Given the description of an element on the screen output the (x, y) to click on. 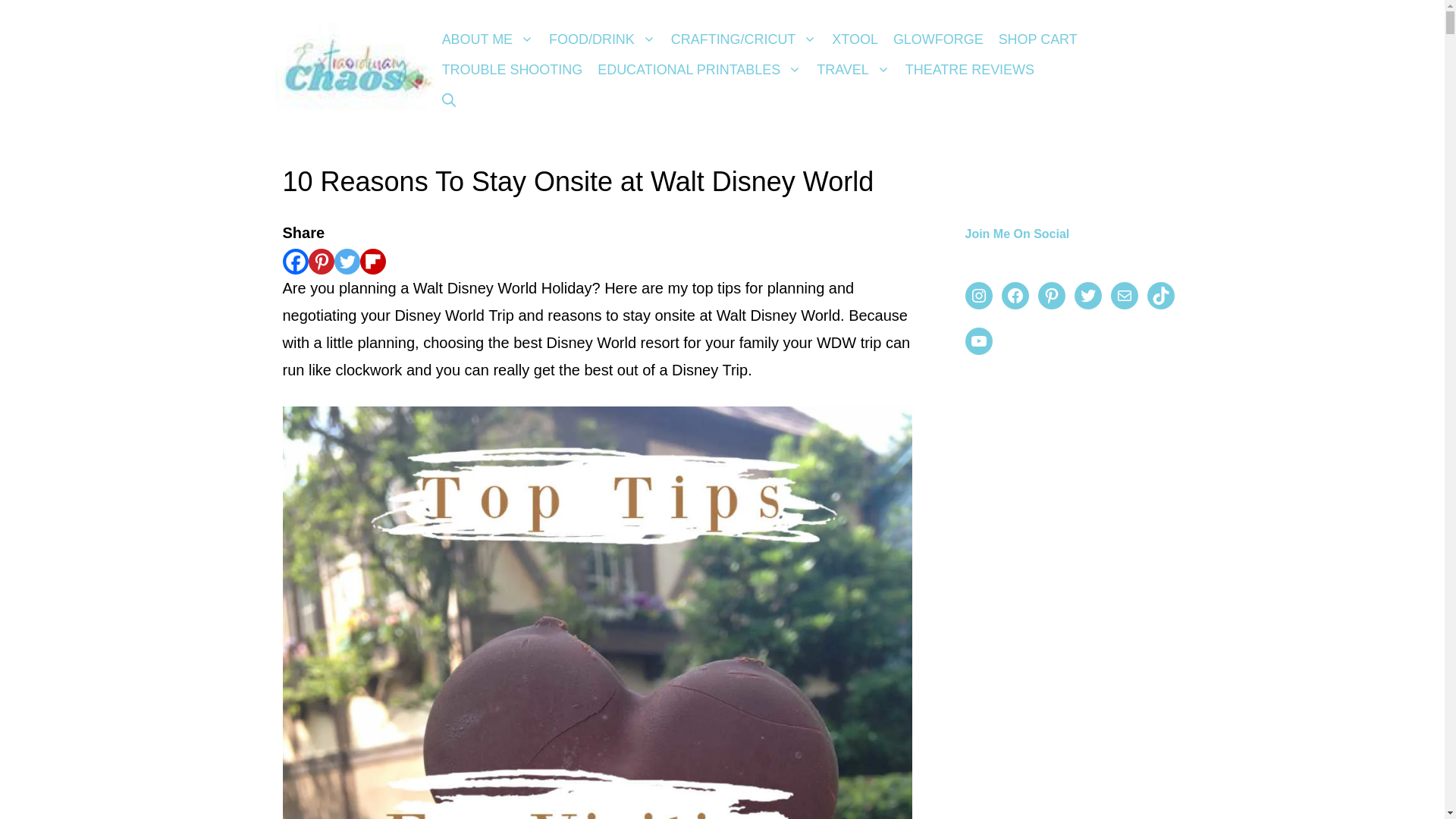
ABOUT ME (487, 39)
Facebook (294, 261)
Pinterest (320, 261)
